Given the description of an element on the screen output the (x, y) to click on. 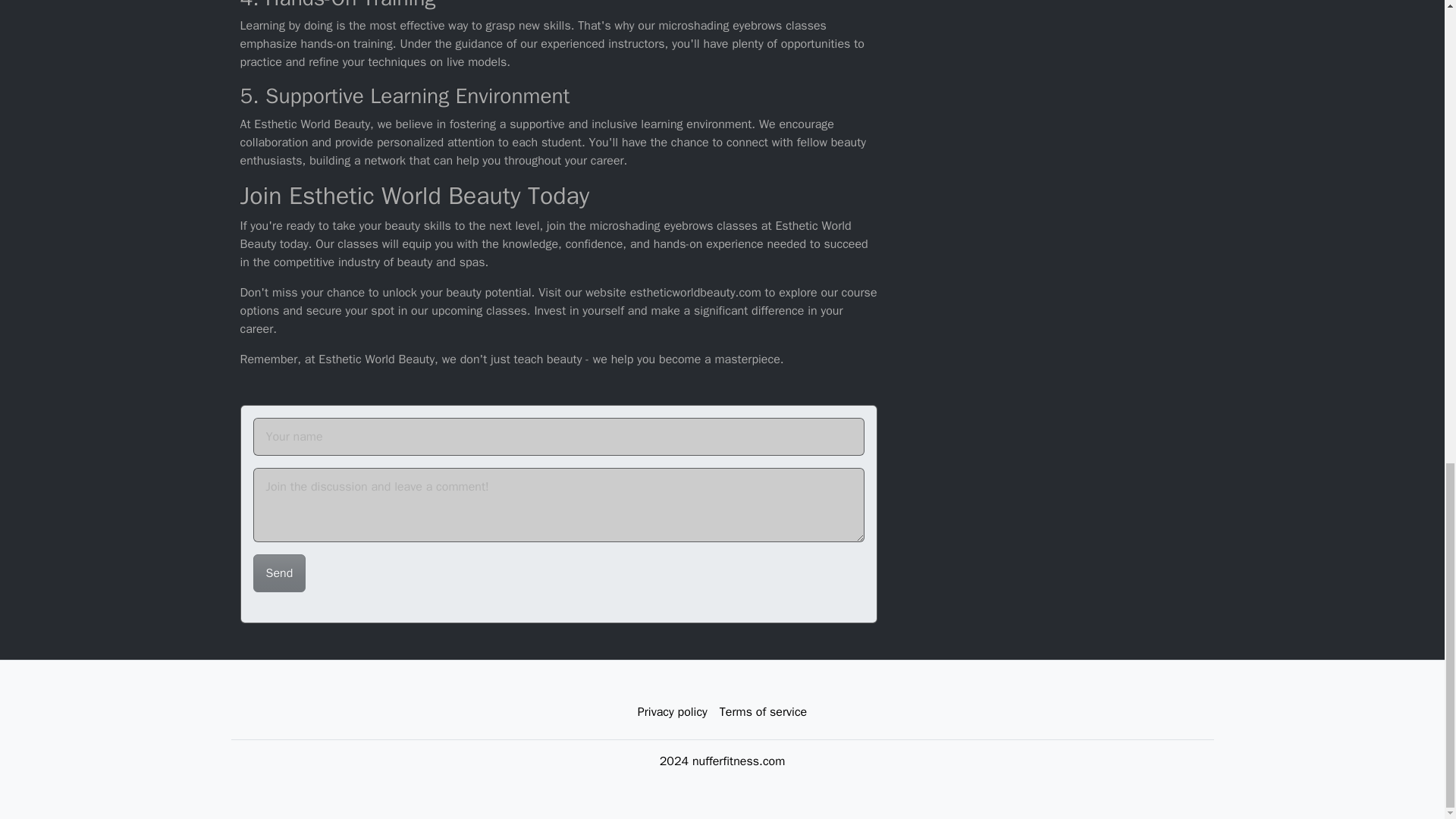
Send (279, 573)
Send (279, 573)
Terms of service (762, 711)
Privacy policy (672, 711)
